Given the description of an element on the screen output the (x, y) to click on. 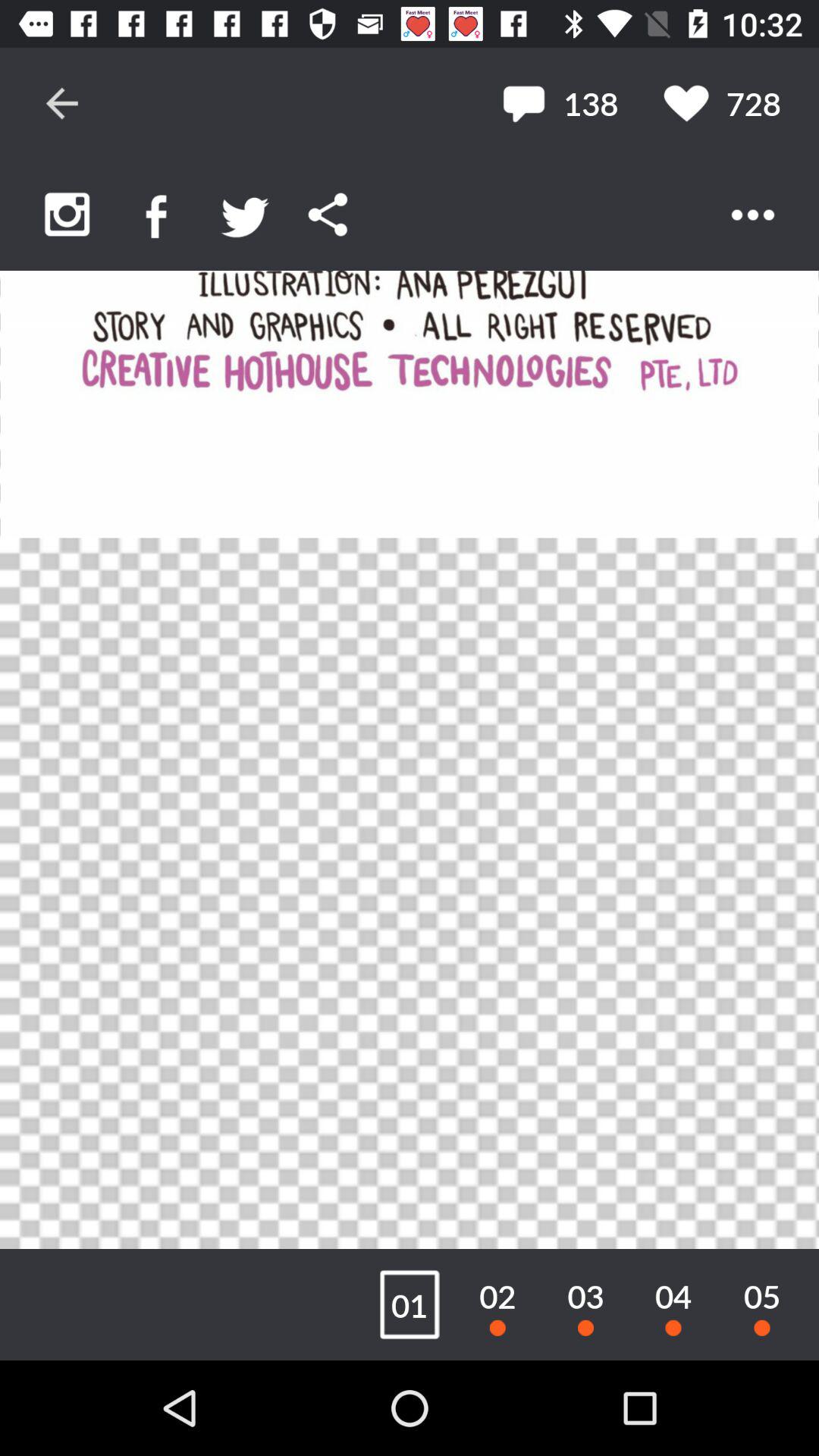
press icon next to the 138  icon (722, 103)
